Given the description of an element on the screen output the (x, y) to click on. 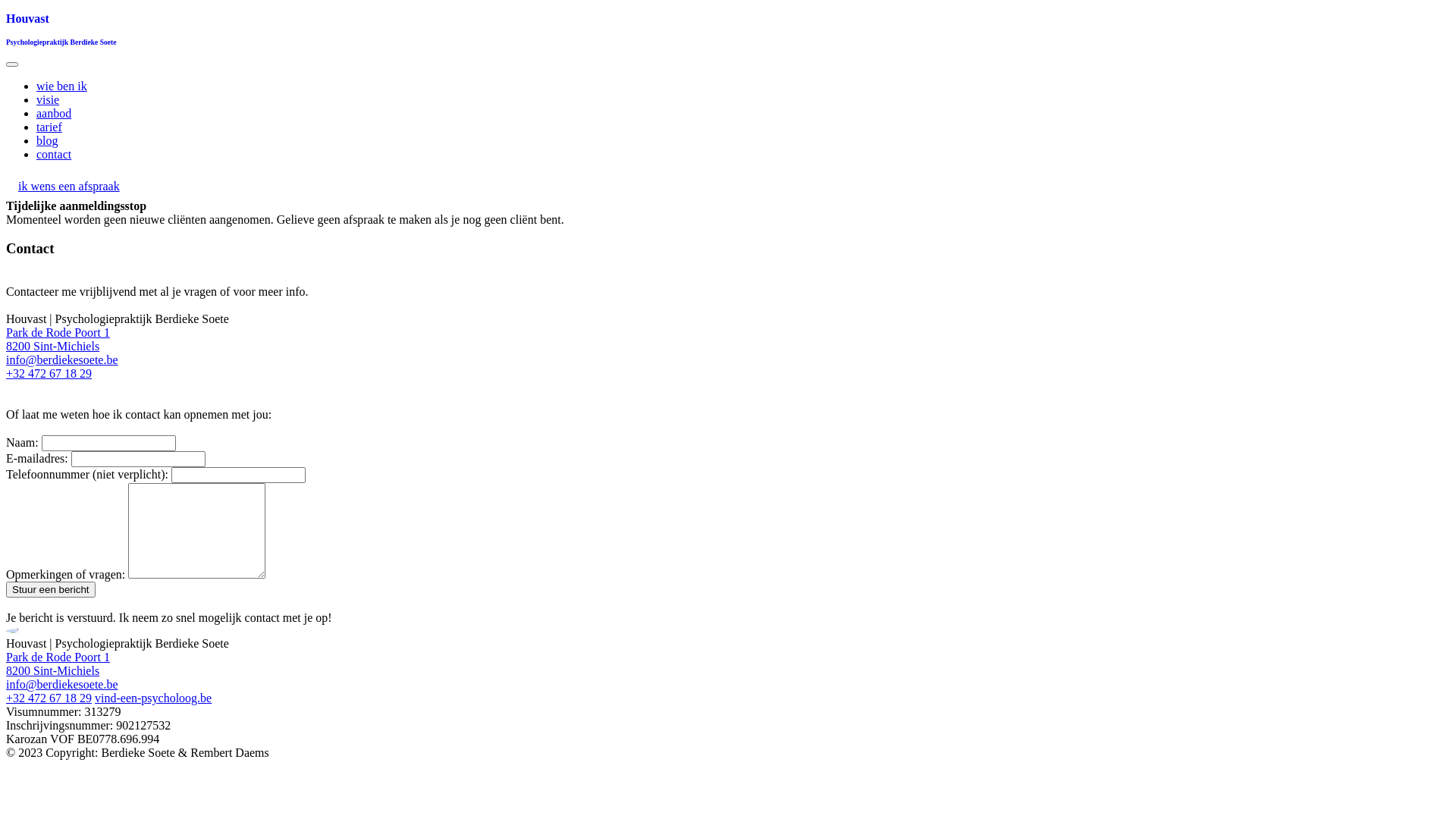
contact Element type: text (53, 153)
wie ben ik Element type: text (61, 85)
info@berdiekesoete.be Element type: text (62, 359)
Park de Rode Poort 1
8200 Sint-Michiels Element type: text (57, 339)
Stuur een bericht Element type: text (50, 589)
+32 472 67 18 29 Element type: text (48, 373)
blog Element type: text (46, 140)
aanbod Element type: text (53, 112)
ik wens een afspraak Element type: text (68, 185)
visie Element type: text (47, 99)
Houvast
Psychologiepraktijk Berdieke Soete Element type: text (727, 29)
tarief Element type: text (49, 126)
info@berdiekesoete.be Element type: text (62, 683)
vind-een-psycholoog.be Element type: text (152, 697)
+32 472 67 18 29 Element type: text (48, 697)
Park de Rode Poort 1
8200 Sint-Michiels Element type: text (57, 663)
